Given the description of an element on the screen output the (x, y) to click on. 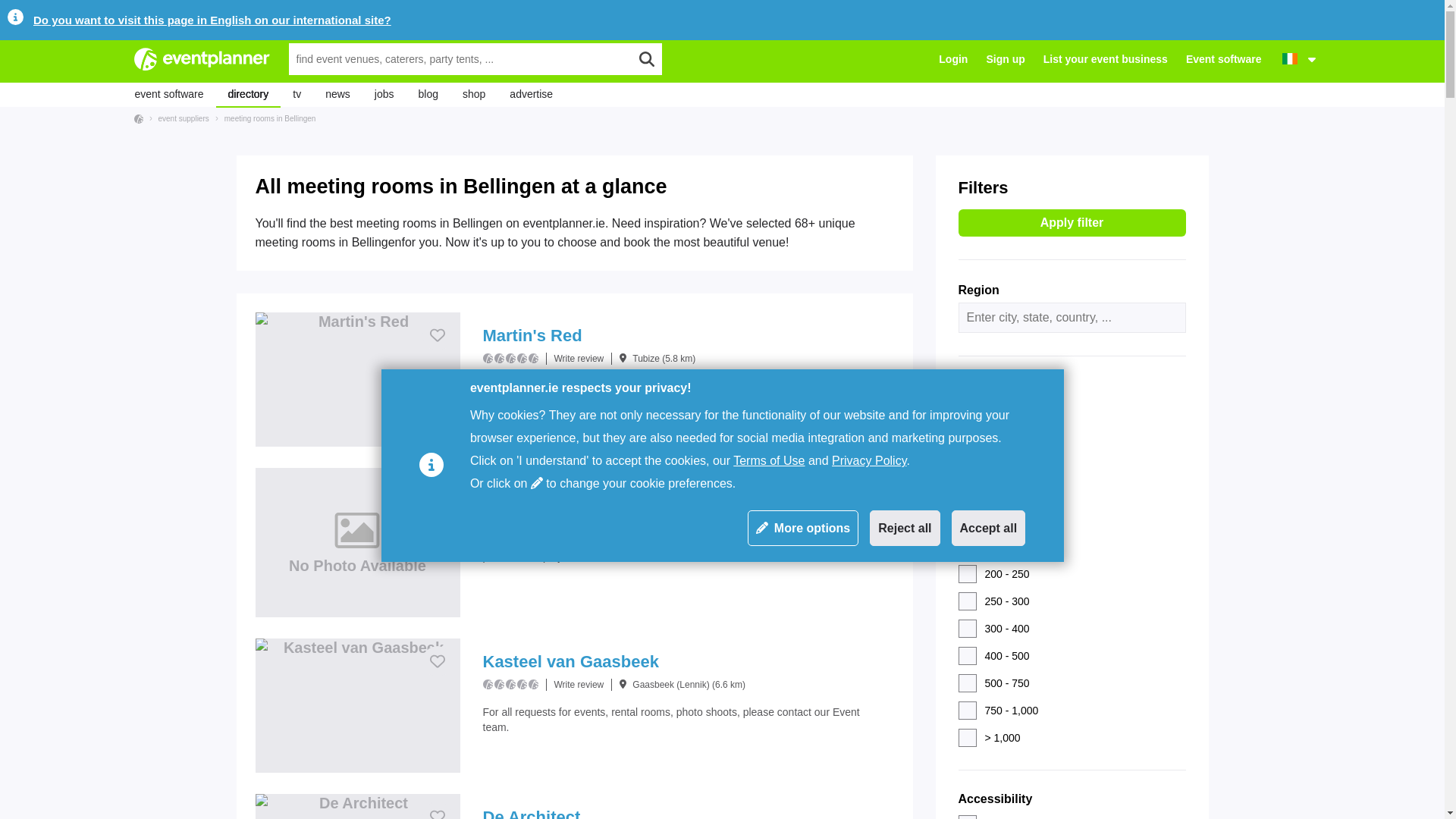
jobs (384, 94)
meeting rooms in Bellingen (265, 118)
tv (297, 94)
news (337, 94)
event software (168, 94)
Login (953, 59)
List your event business (1105, 59)
directory (248, 94)
Apply filter (1072, 222)
